Given the description of an element on the screen output the (x, y) to click on. 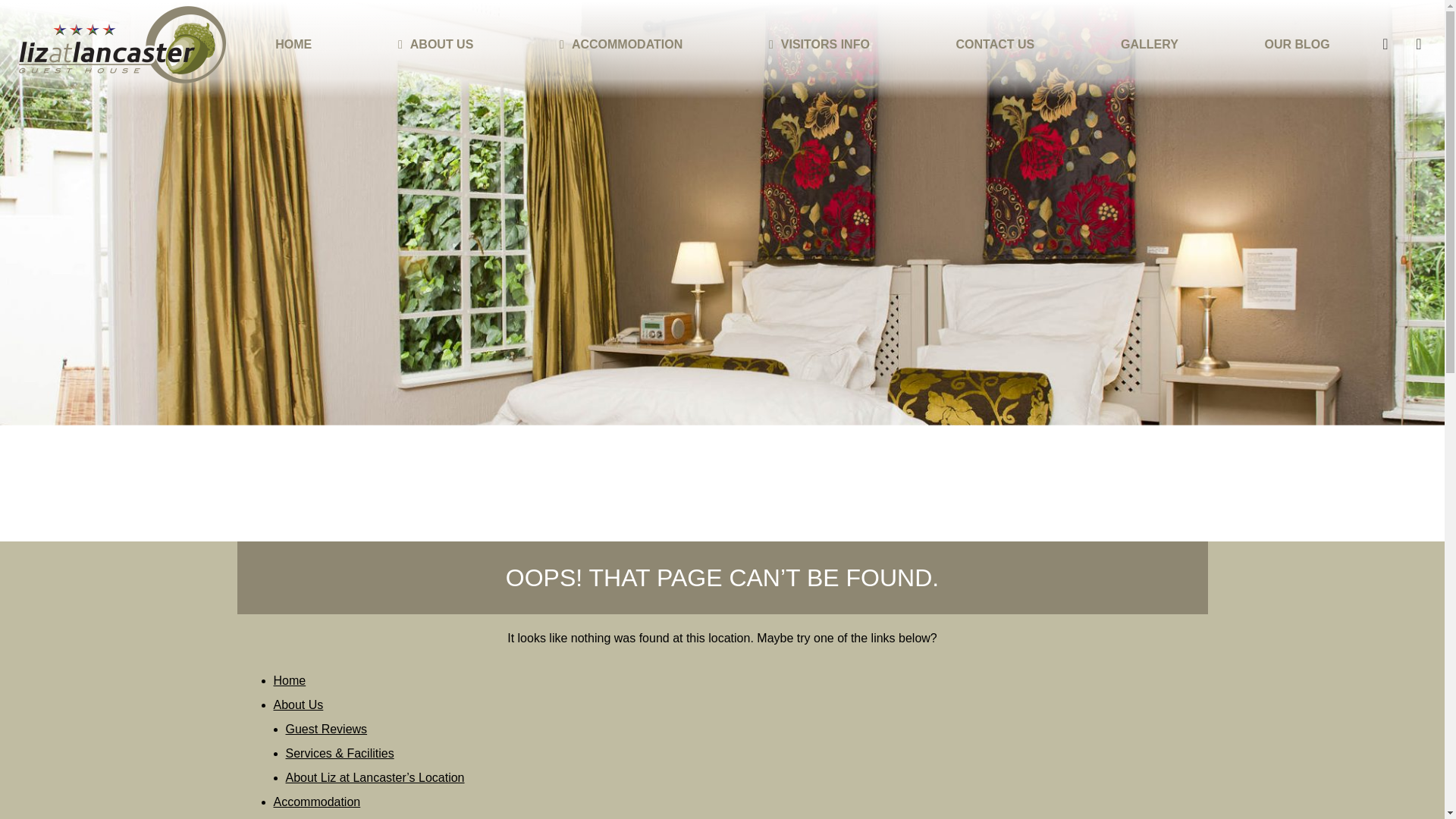
ACCOMMODATION (627, 43)
About Us (298, 704)
Book Rosebank Johannesburg Guest Accommodation Online (1385, 44)
Home (289, 680)
OUR BLOG (1297, 44)
VISITORS INFO (824, 43)
GALLERY (1149, 44)
CONTACT US (994, 44)
ABOUT US (442, 43)
Guest Reviews (325, 728)
